Given the description of an element on the screen output the (x, y) to click on. 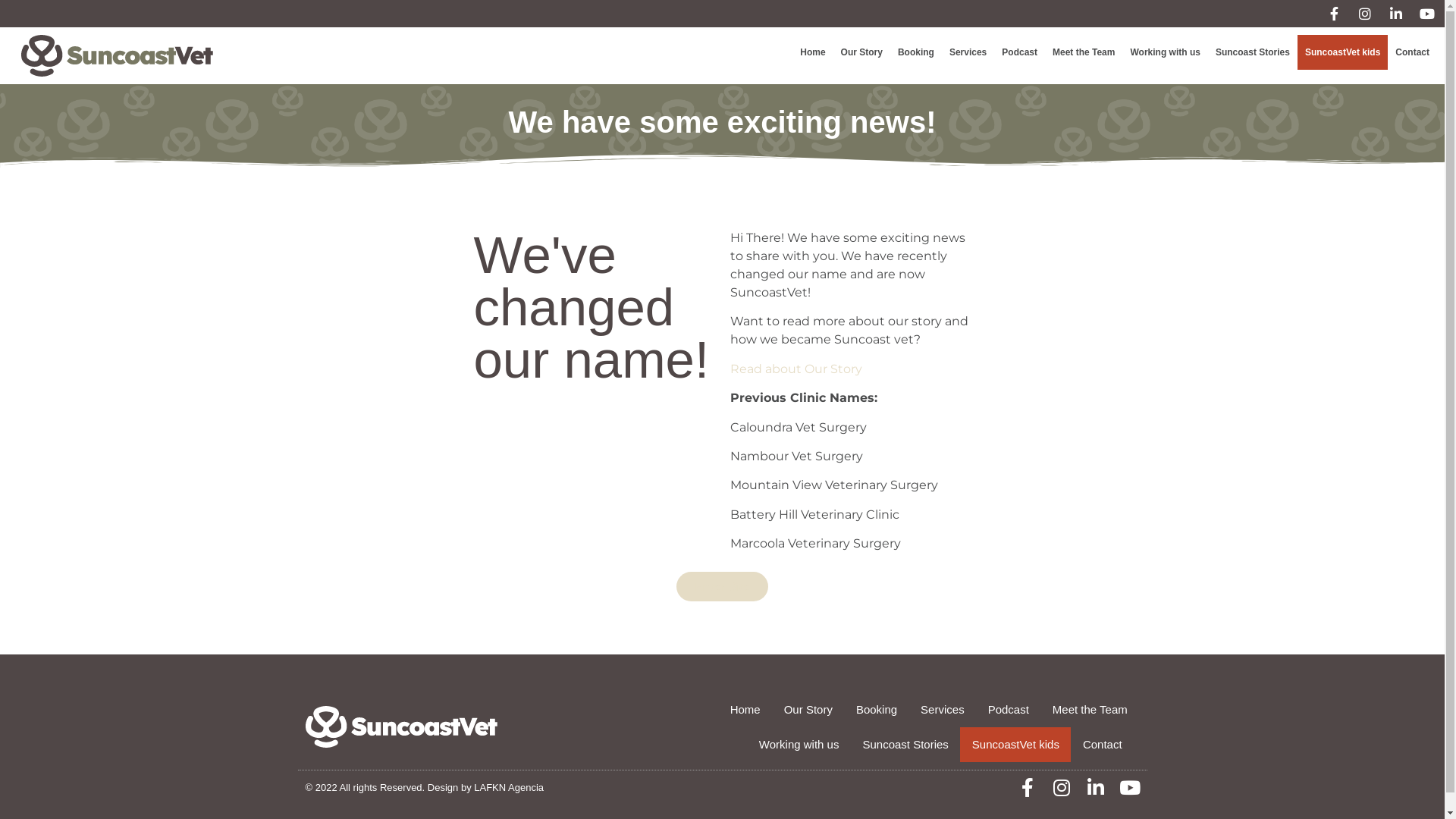
Podcast Element type: text (1008, 709)
Suncoast Stories Element type: text (904, 744)
Home Element type: text (745, 709)
SuncoastVet kids Element type: text (1015, 744)
SuncoastVet kids Element type: text (1342, 51)
Contact Element type: text (1102, 744)
Working with us Element type: text (799, 744)
Our Story Element type: text (808, 709)
Enter Site Element type: text (722, 586)
Booking Element type: text (915, 51)
Home Element type: text (812, 51)
Services Element type: text (967, 51)
Booking Element type: text (876, 709)
Meet the Team Element type: text (1083, 51)
Services Element type: text (942, 709)
Meet the Team Element type: text (1089, 709)
Read about Our Story Element type: text (795, 368)
Working with us Element type: text (1164, 51)
Our Story Element type: text (861, 51)
Contact Element type: text (1412, 51)
Suncoast Stories Element type: text (1252, 51)
Podcast Element type: text (1019, 51)
